Given the description of an element on the screen output the (x, y) to click on. 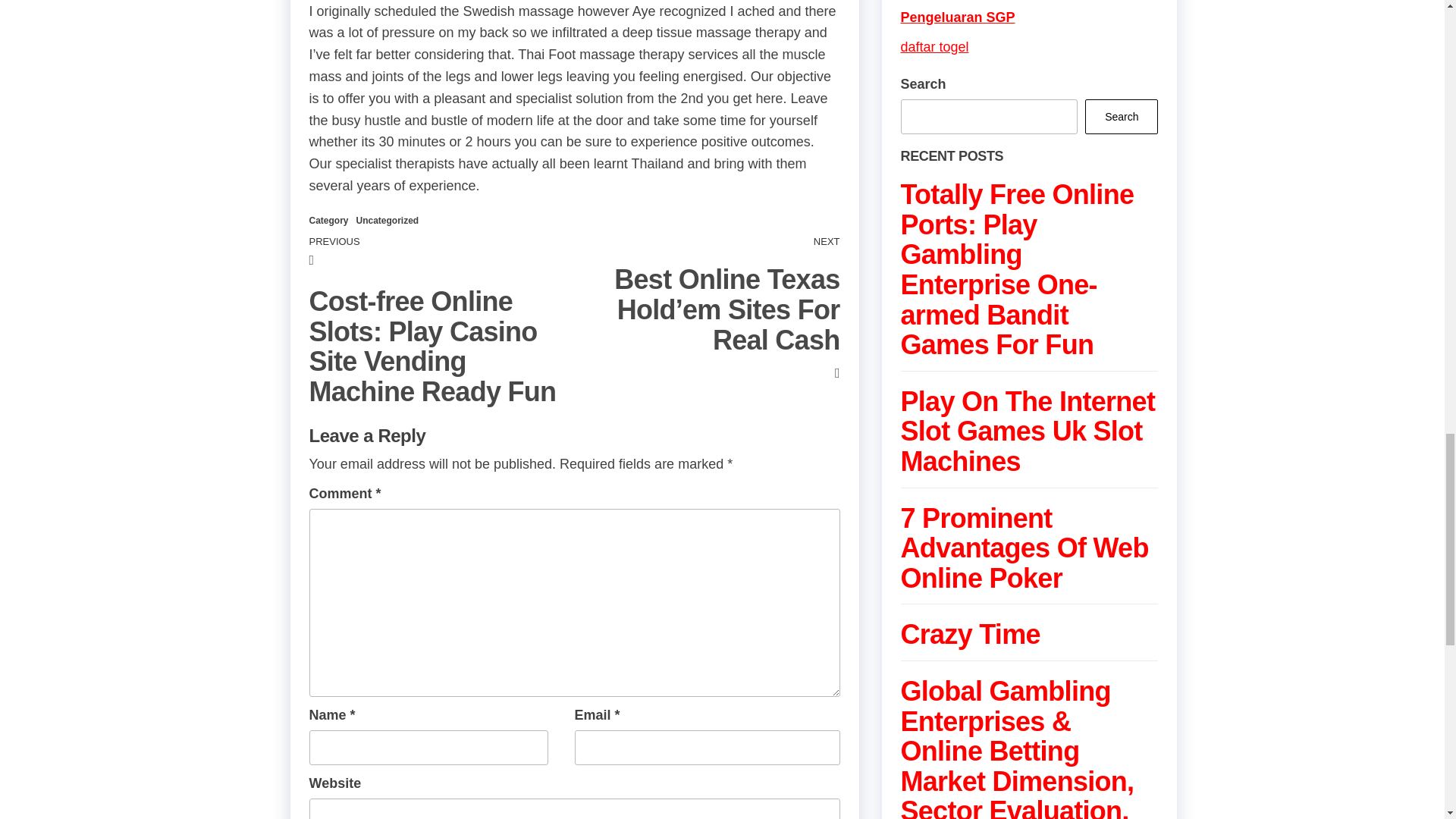
Uncategorized (387, 220)
